Given the description of an element on the screen output the (x, y) to click on. 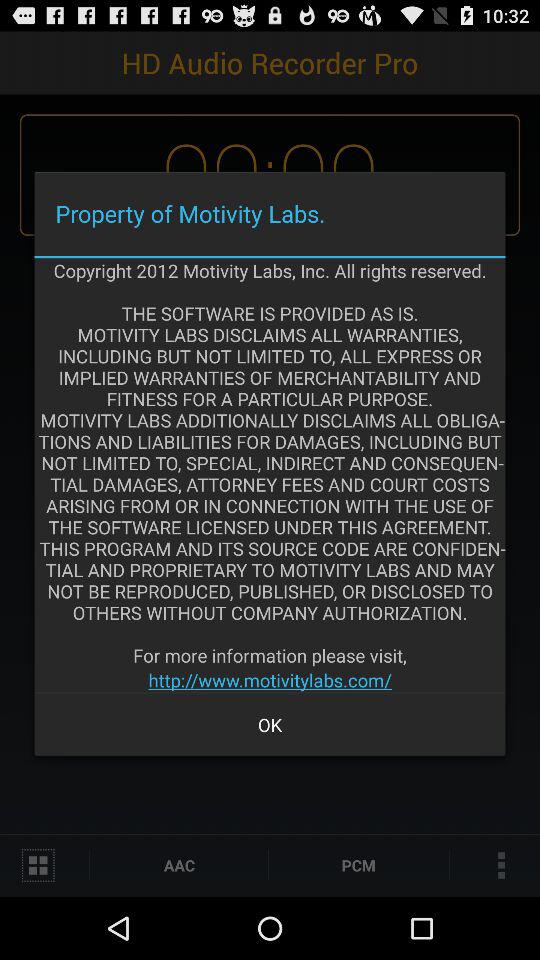
turn off the http www motivitylabs app (269, 679)
